Given the description of an element on the screen output the (x, y) to click on. 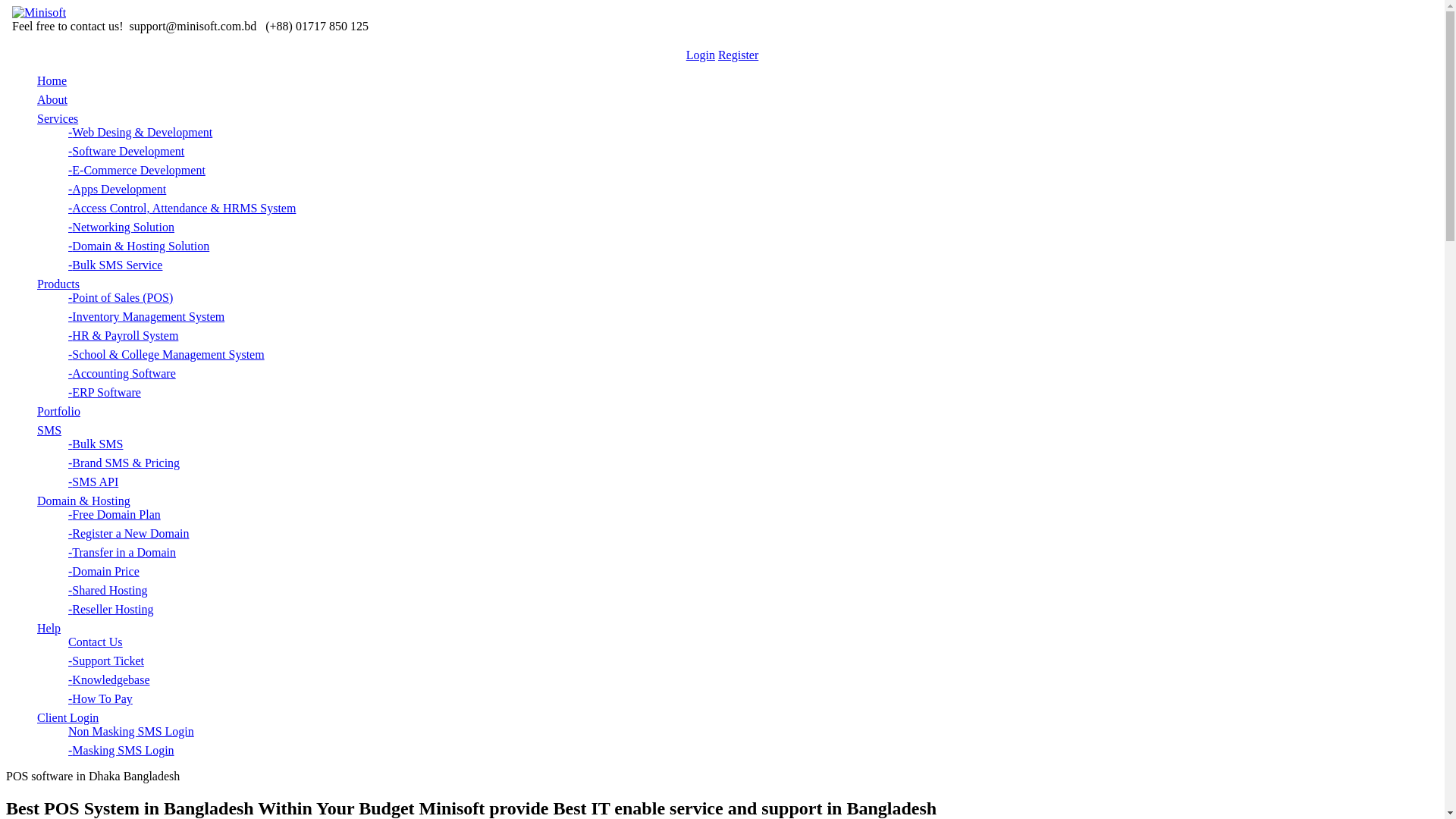
-Inventory Management System Element type: text (146, 316)
Domain & Hosting Element type: text (83, 500)
-SMS API Element type: text (93, 481)
-Brand SMS & Pricing Element type: text (123, 462)
-Free Domain Plan Element type: text (114, 514)
-Transfer in a Domain Element type: text (121, 552)
-Reseller Hosting Element type: text (110, 608)
-HR & Payroll System Element type: text (123, 335)
-Access Control, Attendance & HRMS System Element type: text (181, 207)
Contact Us Element type: text (95, 641)
-Shared Hosting Element type: text (107, 589)
Home Element type: text (51, 80)
-Register a New Domain Element type: text (128, 533)
Non Masking SMS Login Element type: text (131, 730)
-Point of Sales (POS) Element type: text (120, 297)
Products Element type: text (58, 283)
-Domain & Hosting Solution Element type: text (138, 245)
Services Element type: text (57, 118)
-Apps Development Element type: text (117, 188)
Register Element type: text (738, 54)
-School & College Management System Element type: text (166, 354)
-Support Ticket Element type: text (106, 660)
SMS Element type: text (49, 429)
Help Element type: text (48, 627)
-Masking SMS Login Element type: text (121, 749)
-Web Desing & Development Element type: text (140, 131)
-Domain Price Element type: text (103, 570)
-Software Development Element type: text (126, 150)
-How To Pay Element type: text (100, 698)
Client Login Element type: text (67, 717)
Portfolio Element type: text (58, 410)
-Bulk SMS Element type: text (95, 443)
-Knowledgebase Element type: text (109, 679)
-Bulk SMS Service Element type: text (115, 264)
Login Element type: text (700, 54)
-ERP Software Element type: text (104, 391)
About Element type: text (52, 99)
-Networking Solution Element type: text (121, 226)
-E-Commerce Development Element type: text (136, 169)
-Accounting Software Element type: text (121, 373)
